Given the description of an element on the screen output the (x, y) to click on. 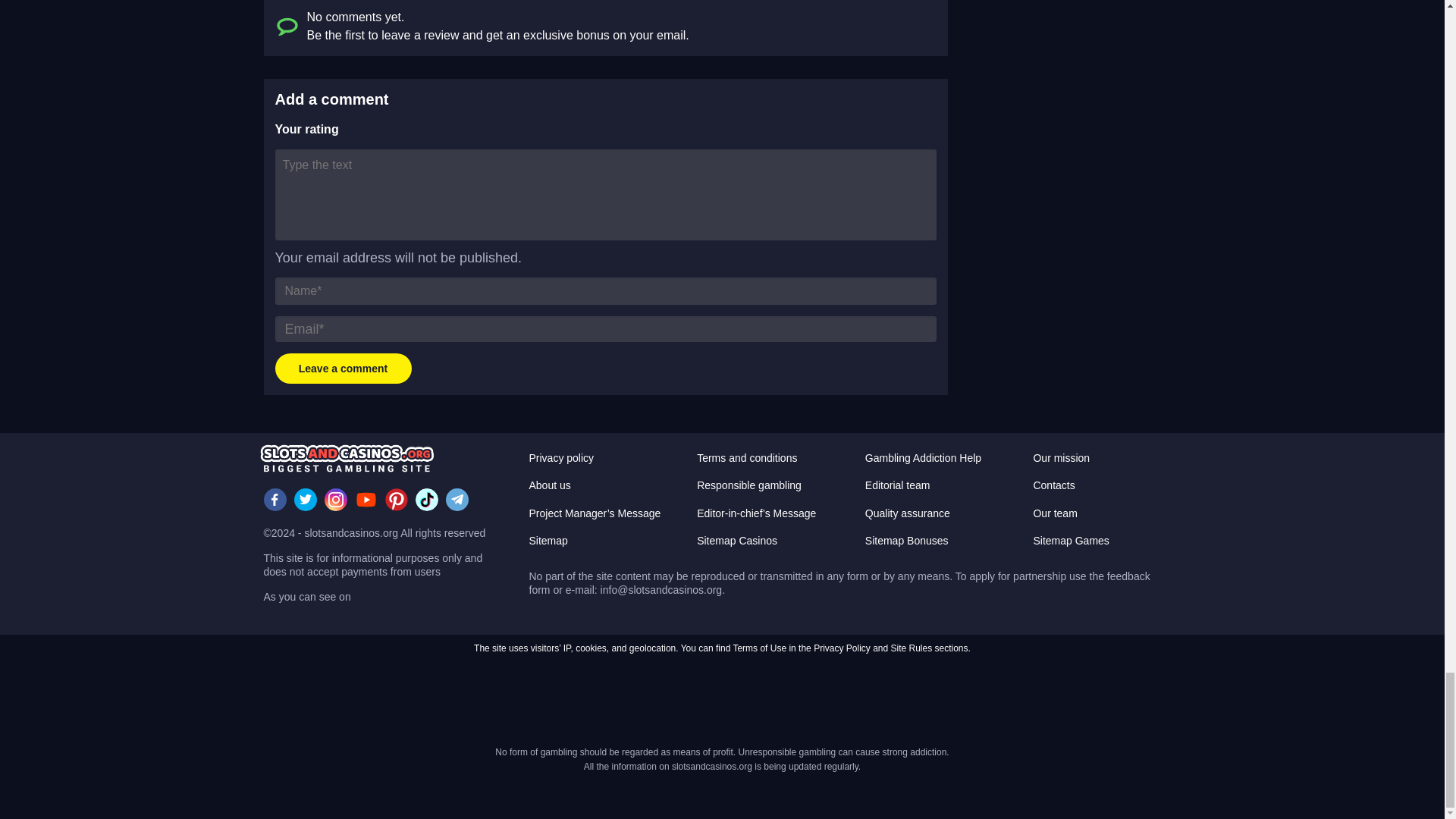
Leave a comment (342, 368)
DMCA.com Protection Status (644, 700)
